Given the description of an element on the screen output the (x, y) to click on. 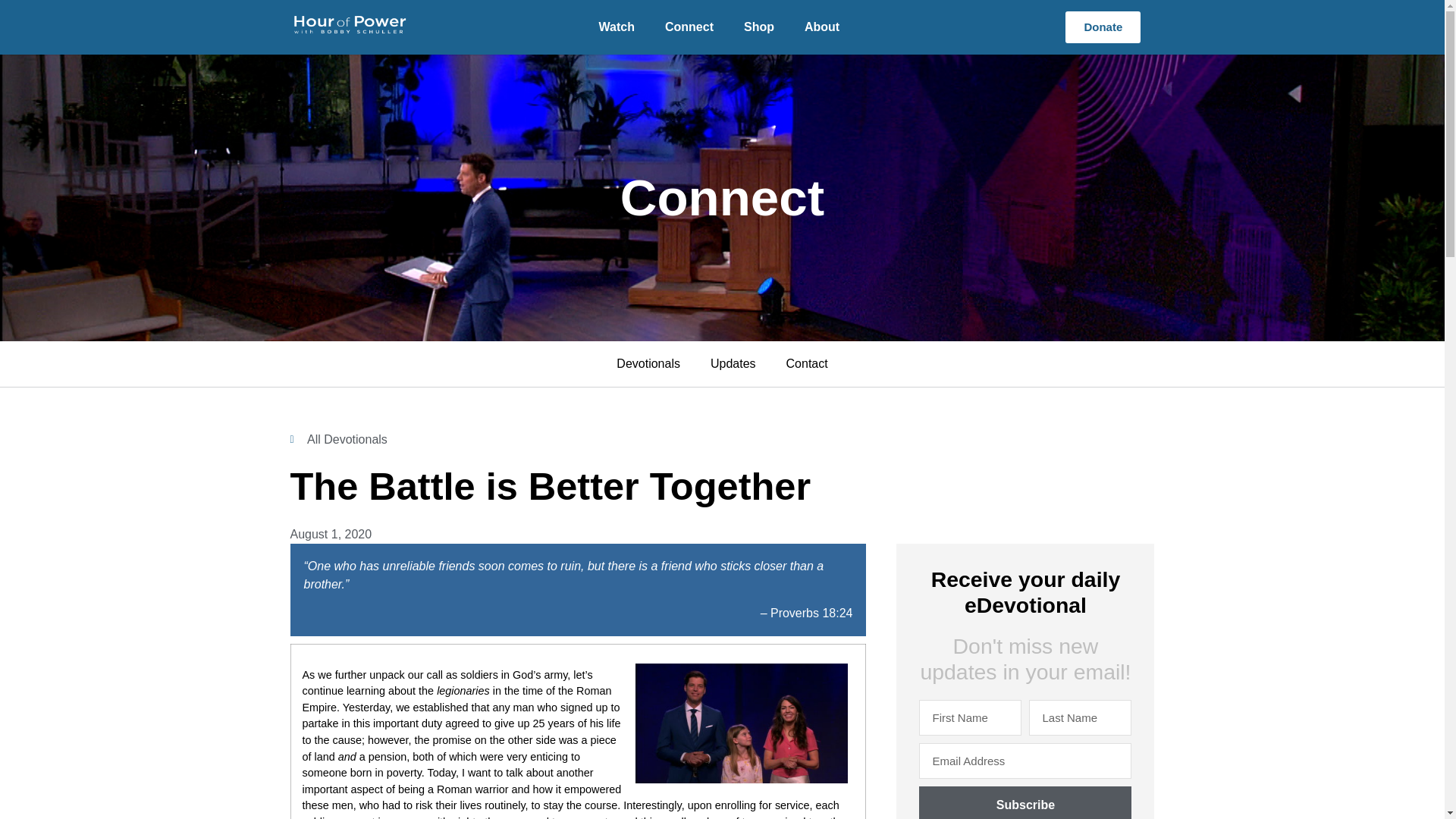
Donate (1102, 27)
Connect (689, 26)
Updates (733, 363)
Shop (759, 26)
Devotionals (648, 363)
All Devotionals (338, 439)
August 1, 2020 (330, 534)
Watch (616, 26)
Contact (807, 363)
Subscribe (1024, 802)
